Given the description of an element on the screen output the (x, y) to click on. 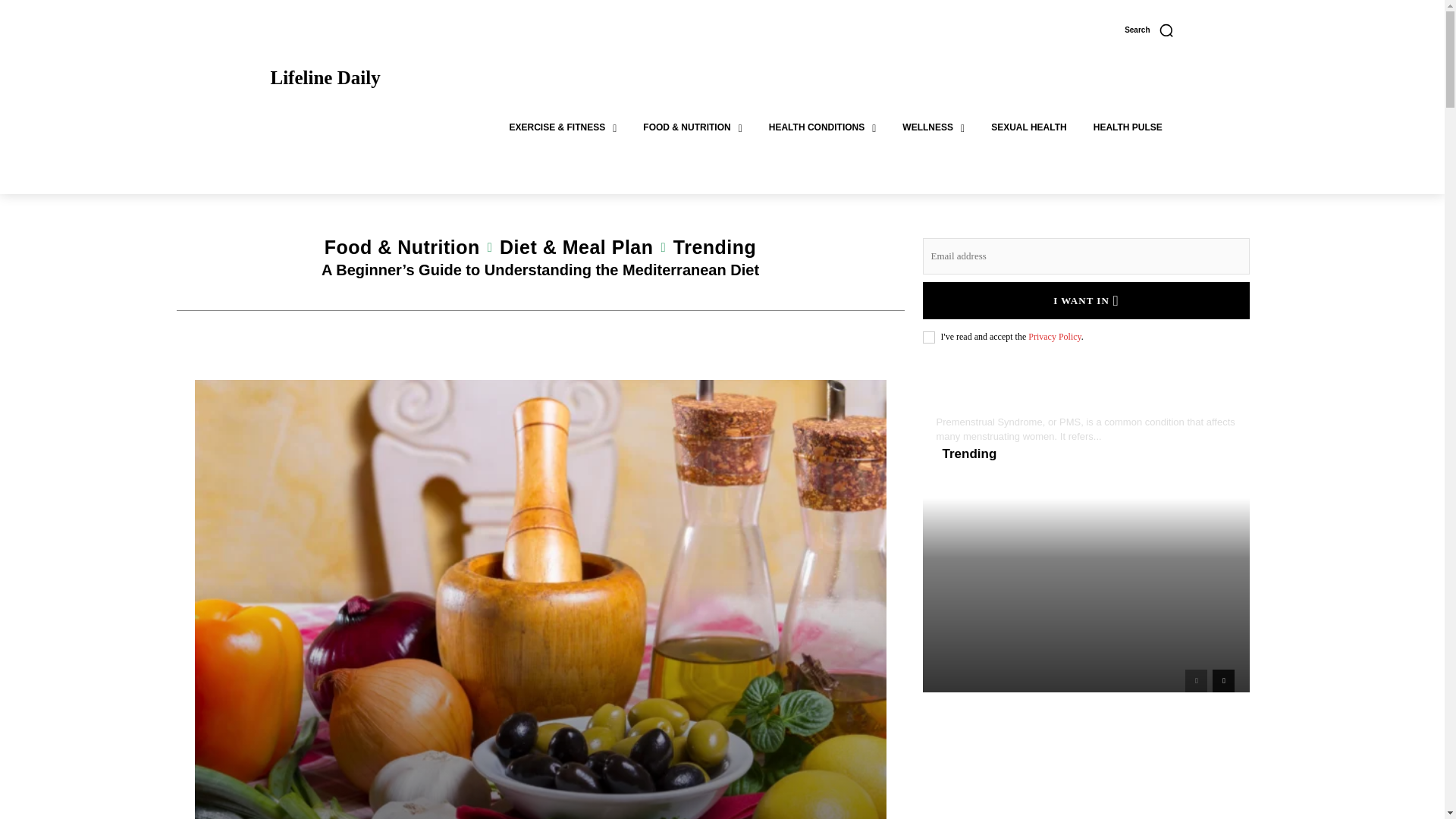
WELLNESS (933, 127)
HEALTH CONDITIONS (822, 127)
Lifeline Daily (324, 76)
